Given the description of an element on the screen output the (x, y) to click on. 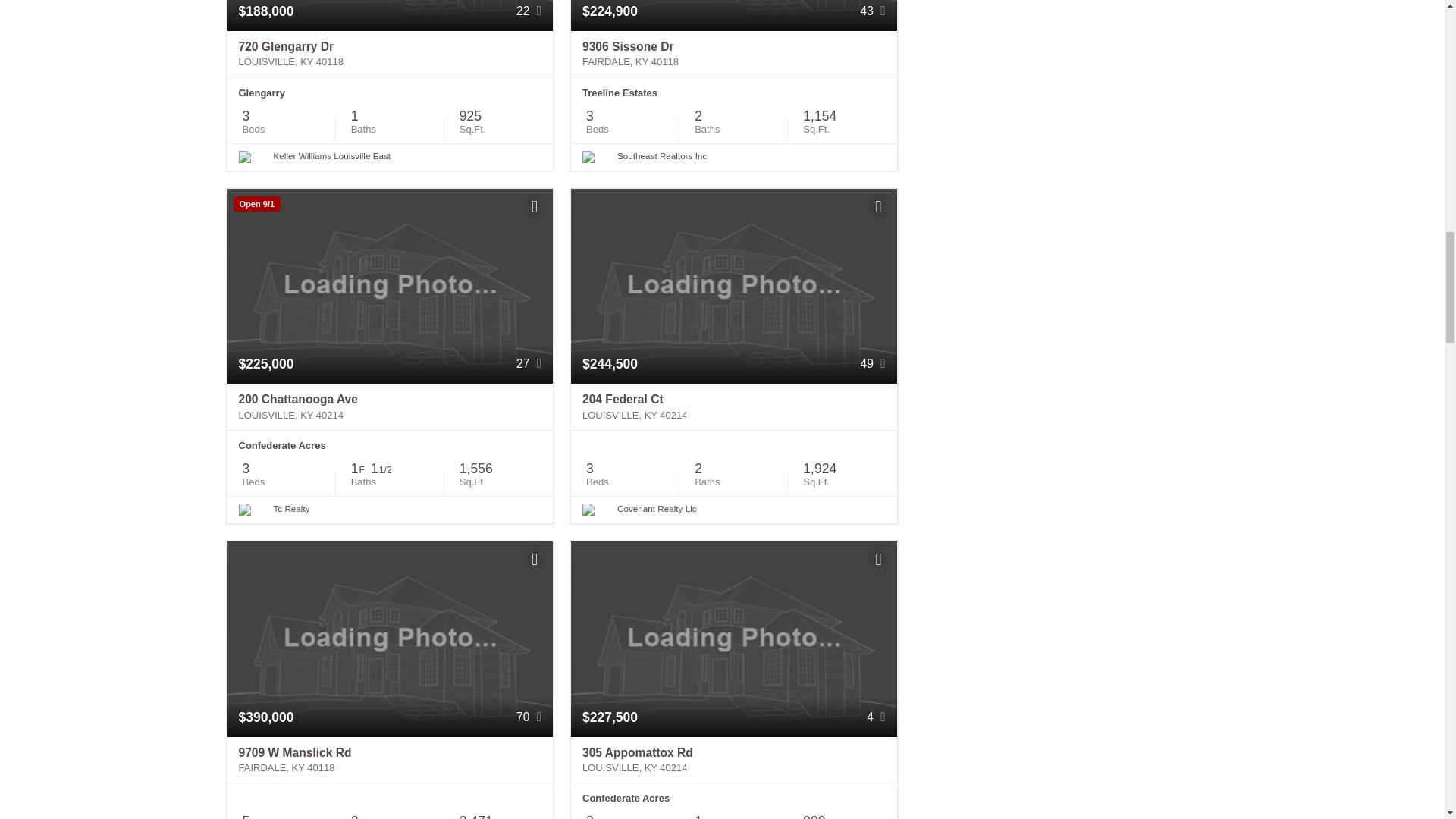
305 Appomattox Rd Louisville,  KY 40214 (733, 760)
9709 W Manslick Rd Fairdale,  KY 40118 (390, 760)
720 Glengarry Dr Louisville,  KY 40118 (390, 54)
200 Chattanooga Ave Louisville,  KY 40214 (390, 407)
9306 Sissone Dr Fairdale,  KY 40118 (733, 54)
204 Federal Ct Louisville,  KY 40214 (733, 407)
